Given the description of an element on the screen output the (x, y) to click on. 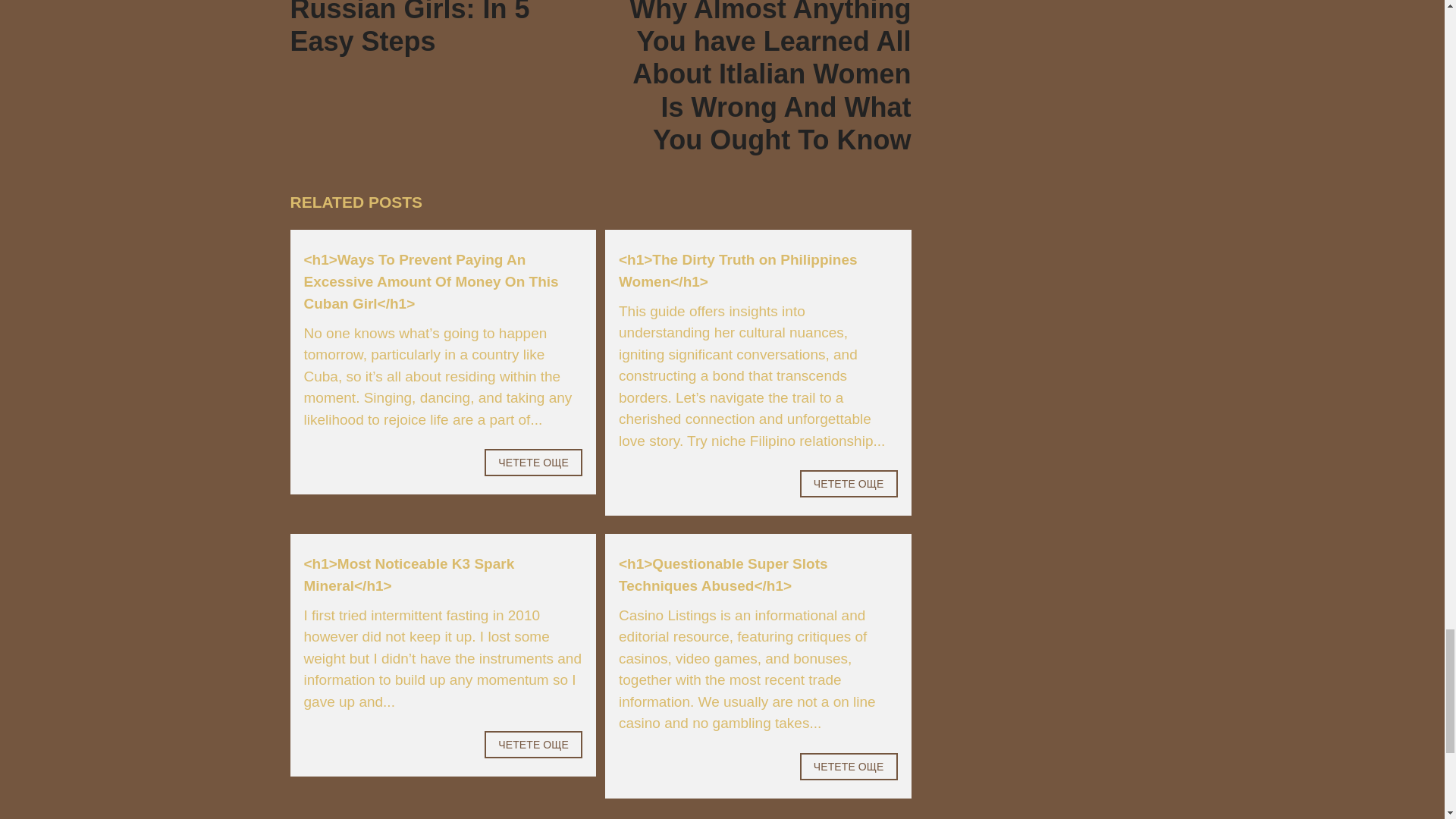
Most Noticeable K3 Spark Mineral (433, 28)
The Dirty Truth on Philippines Women (407, 574)
Questionable Super Slots Techniques Abused (737, 270)
Most Noticeable K3 Spark Mineral (723, 574)
Questionable Super Slots Techniques Abused (533, 744)
The Dirty Truth on Philippines Women (848, 766)
